Given the description of an element on the screen output the (x, y) to click on. 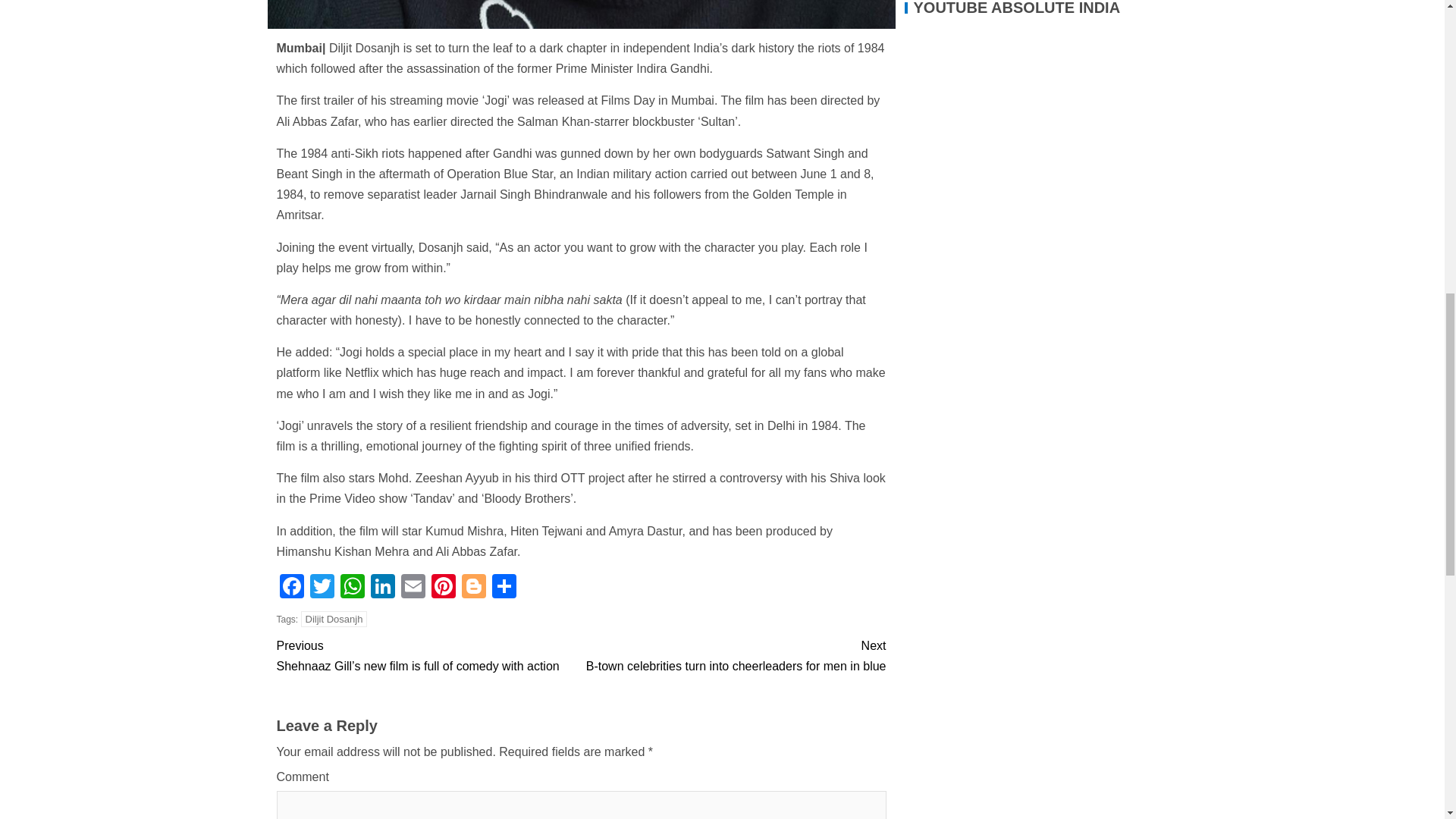
LinkedIn (381, 587)
Blogger (472, 587)
Twitter (320, 587)
Pinterest (443, 587)
LinkedIn (381, 587)
Facebook (290, 587)
Twitter (320, 587)
Facebook (290, 587)
Email (412, 587)
Email (412, 587)
